Given the description of an element on the screen output the (x, y) to click on. 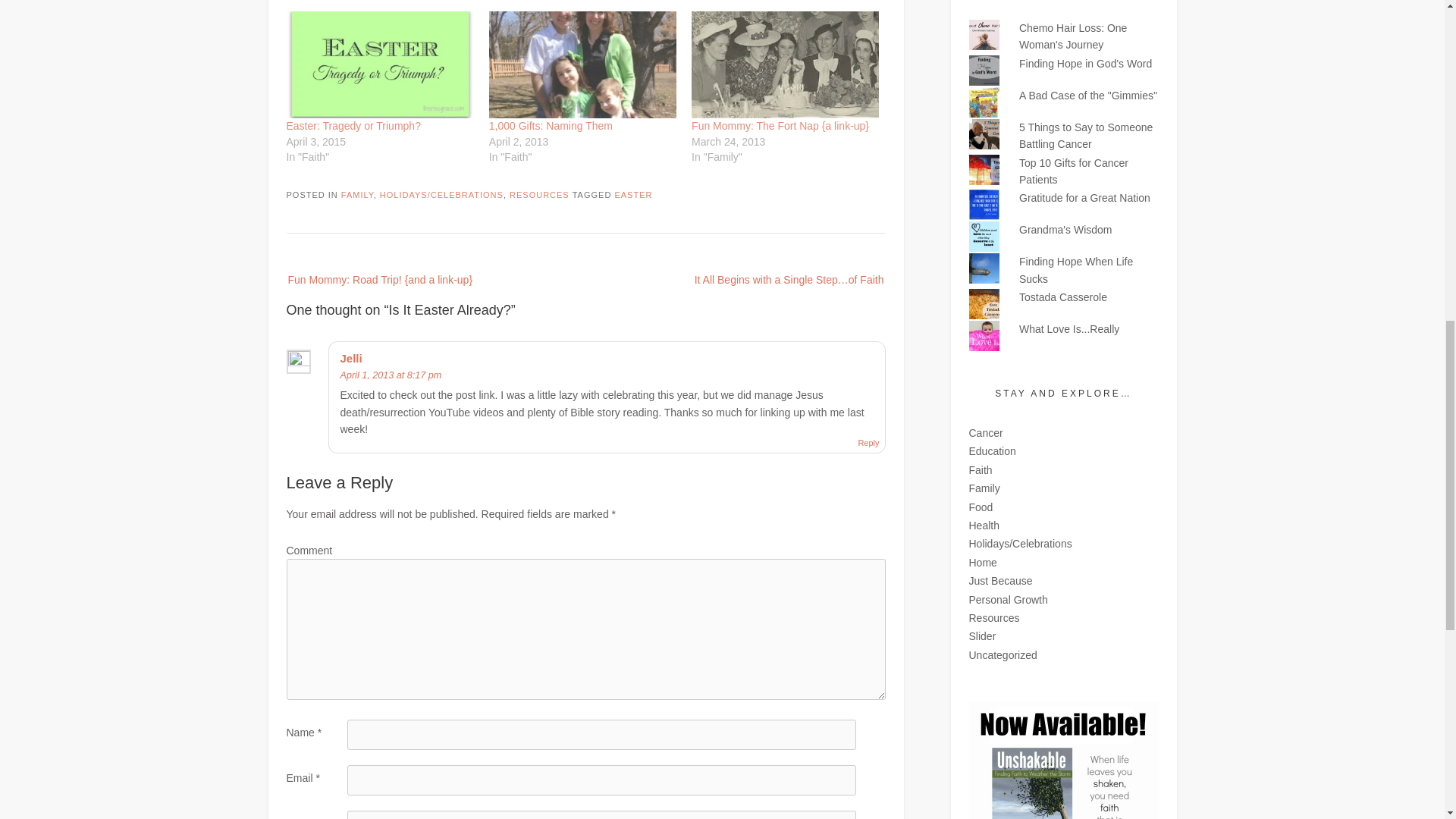
1,000 Gifts: Naming Them (550, 125)
EASTER (633, 194)
Easter: Tragedy or Triumph? (353, 125)
A Bad Case of the "Gimmies" (1088, 95)
April 1, 2013 at 8:17 pm (390, 375)
RESOURCES (539, 194)
FAMILY (357, 194)
1,000 Gifts: Naming Them (583, 64)
Chemo Hair Loss: One Woman's Journey (1072, 36)
Jelli (350, 358)
Finding Hope in God's Word (1085, 63)
Easter: Tragedy or Triumph? (353, 125)
1,000 Gifts: Naming Them (550, 125)
Reply (868, 442)
Easter: Tragedy or Triumph? (380, 64)
